Given the description of an element on the screen output the (x, y) to click on. 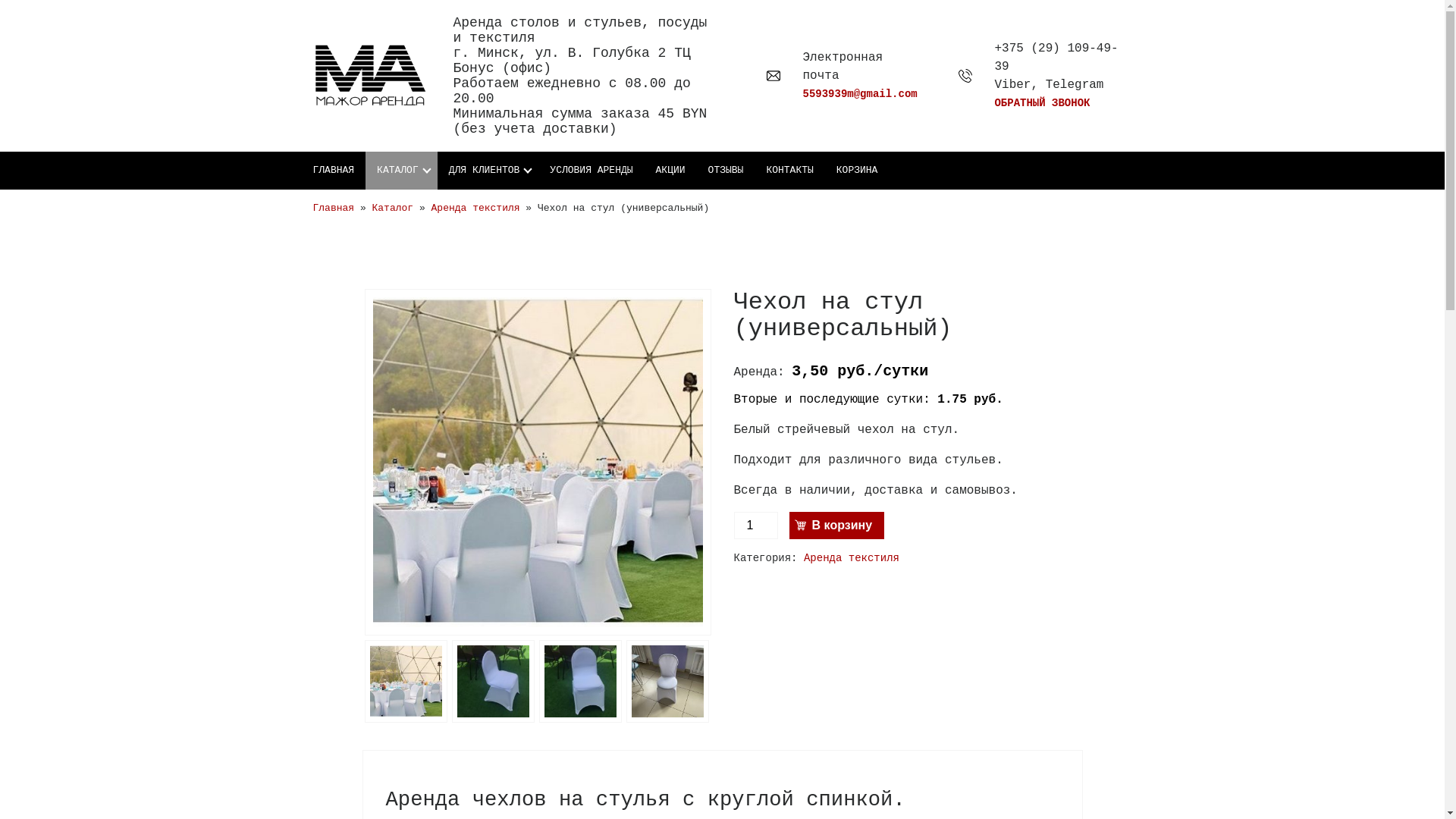
5593939m@gmail.com Element type: text (859, 93)
